Given the description of an element on the screen output the (x, y) to click on. 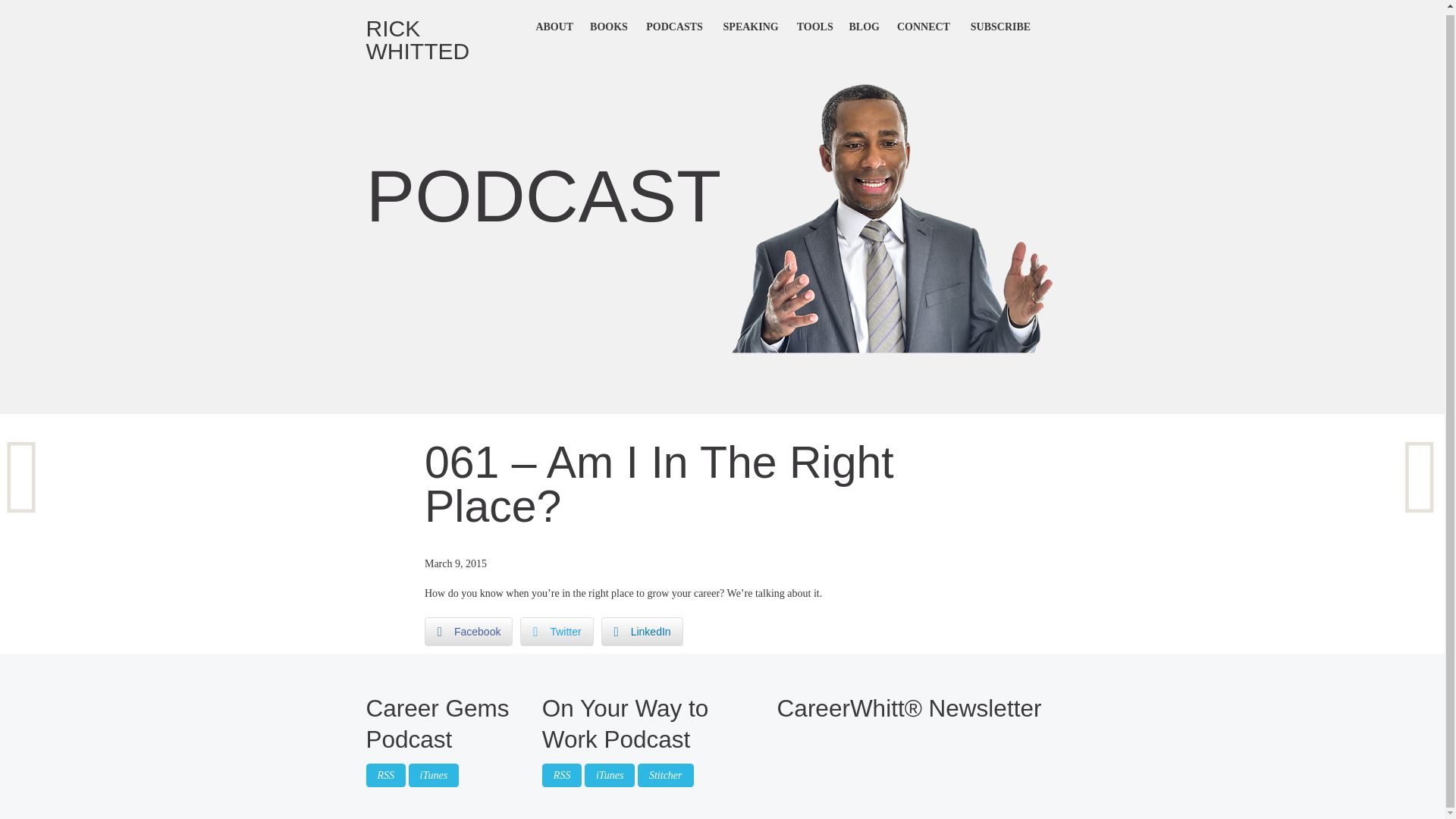
RICK WHITTED (446, 35)
TOOLS (815, 23)
RSS (386, 775)
CONNECT (922, 23)
Twitter (555, 631)
Facebook (468, 631)
SPEAKING (751, 23)
ABOUT (553, 23)
iTunes (433, 775)
PODCASTS (674, 23)
